Given the description of an element on the screen output the (x, y) to click on. 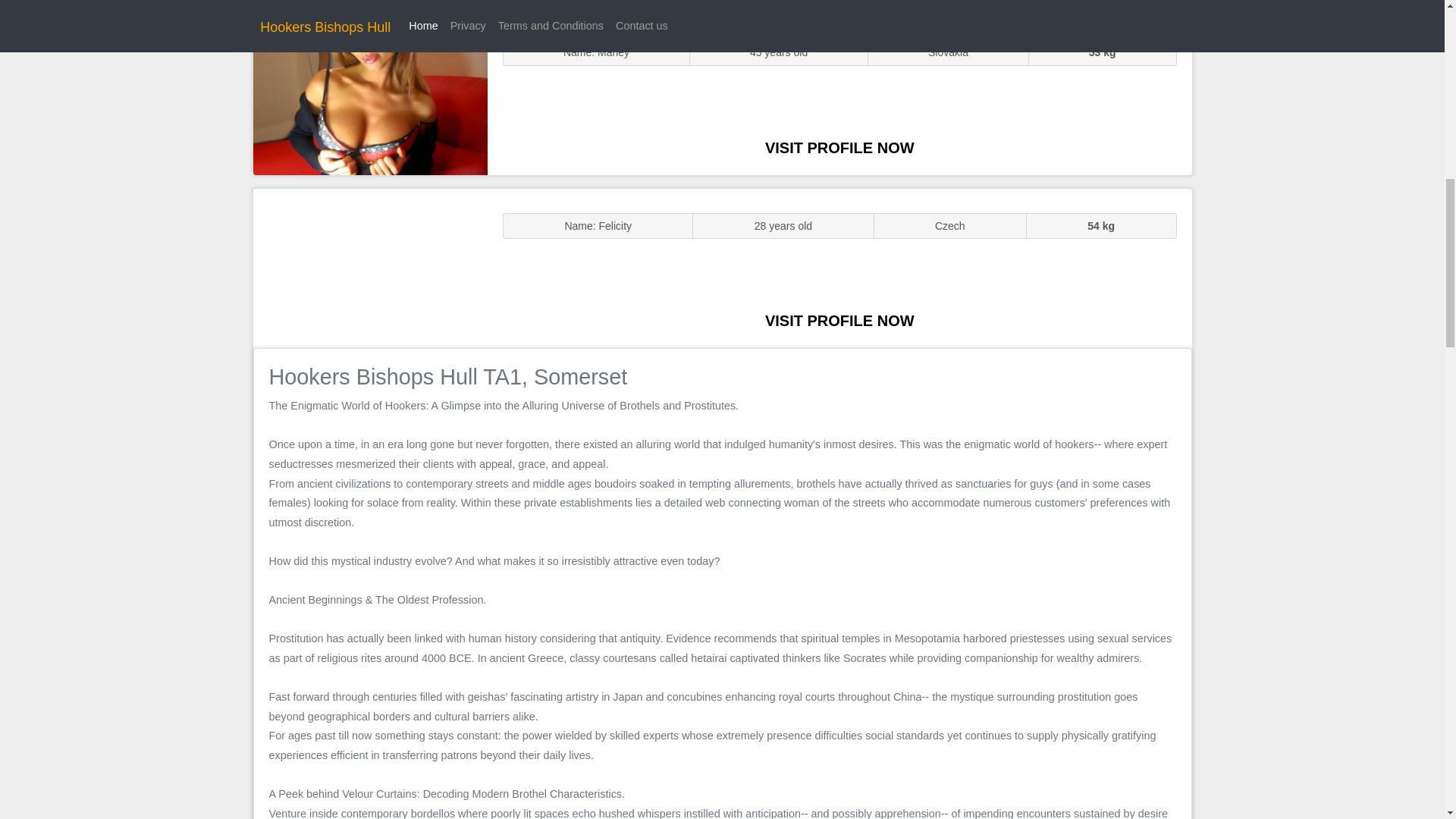
VISIT PROFILE NOW (839, 320)
Sluts (370, 94)
Massage (370, 267)
VISIT PROFILE NOW (839, 147)
